Given the description of an element on the screen output the (x, y) to click on. 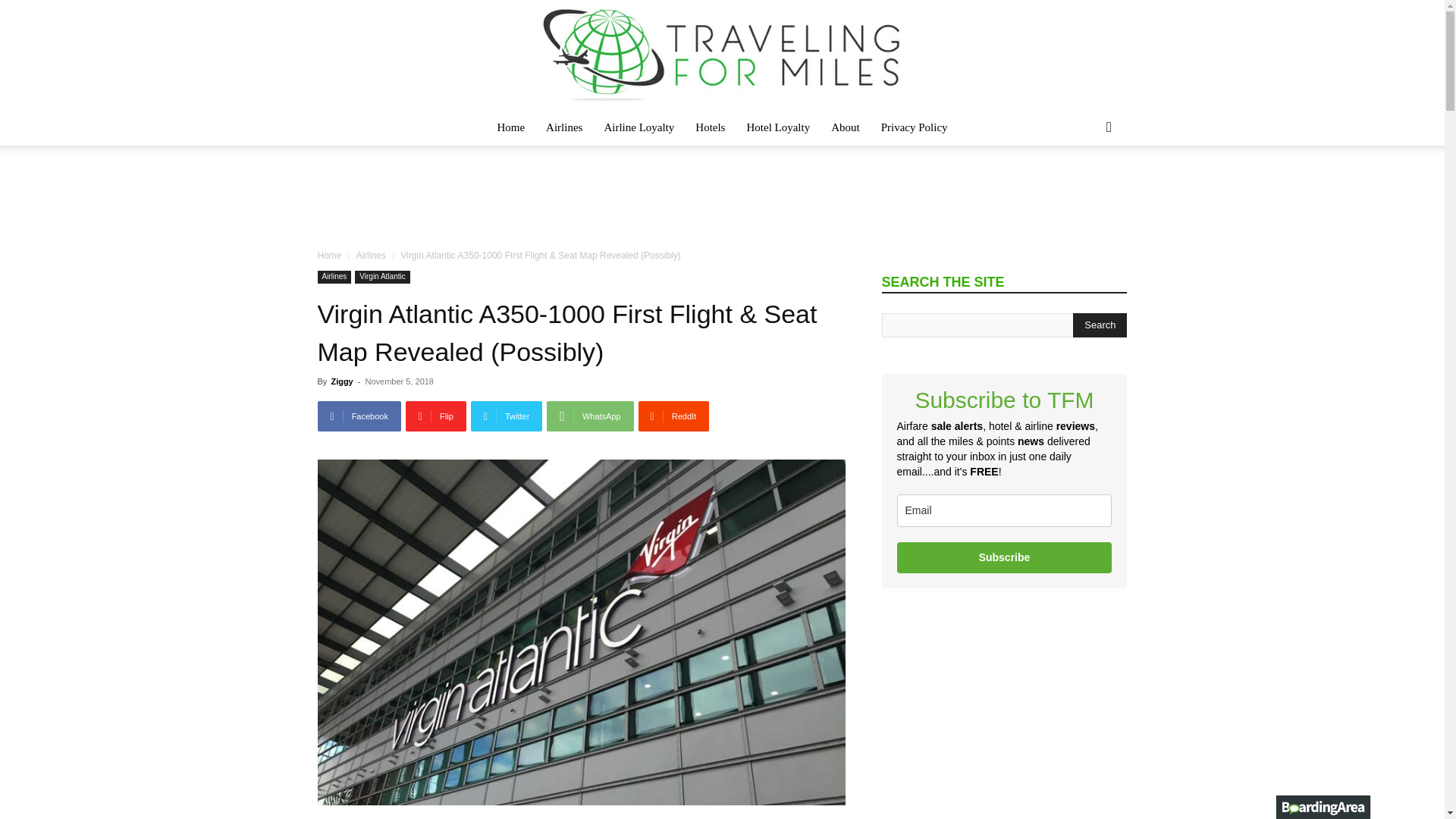
Twitter (506, 416)
ReddIt (674, 416)
WhatsApp (590, 416)
Flip (435, 416)
Facebook (358, 416)
Airlines (370, 255)
Search (1085, 187)
ReddIt (674, 416)
About (845, 126)
Home (510, 126)
Privacy Policy (914, 126)
Search (1099, 324)
Hotels (709, 126)
Hotel Loyalty (778, 126)
